Given the description of an element on the screen output the (x, y) to click on. 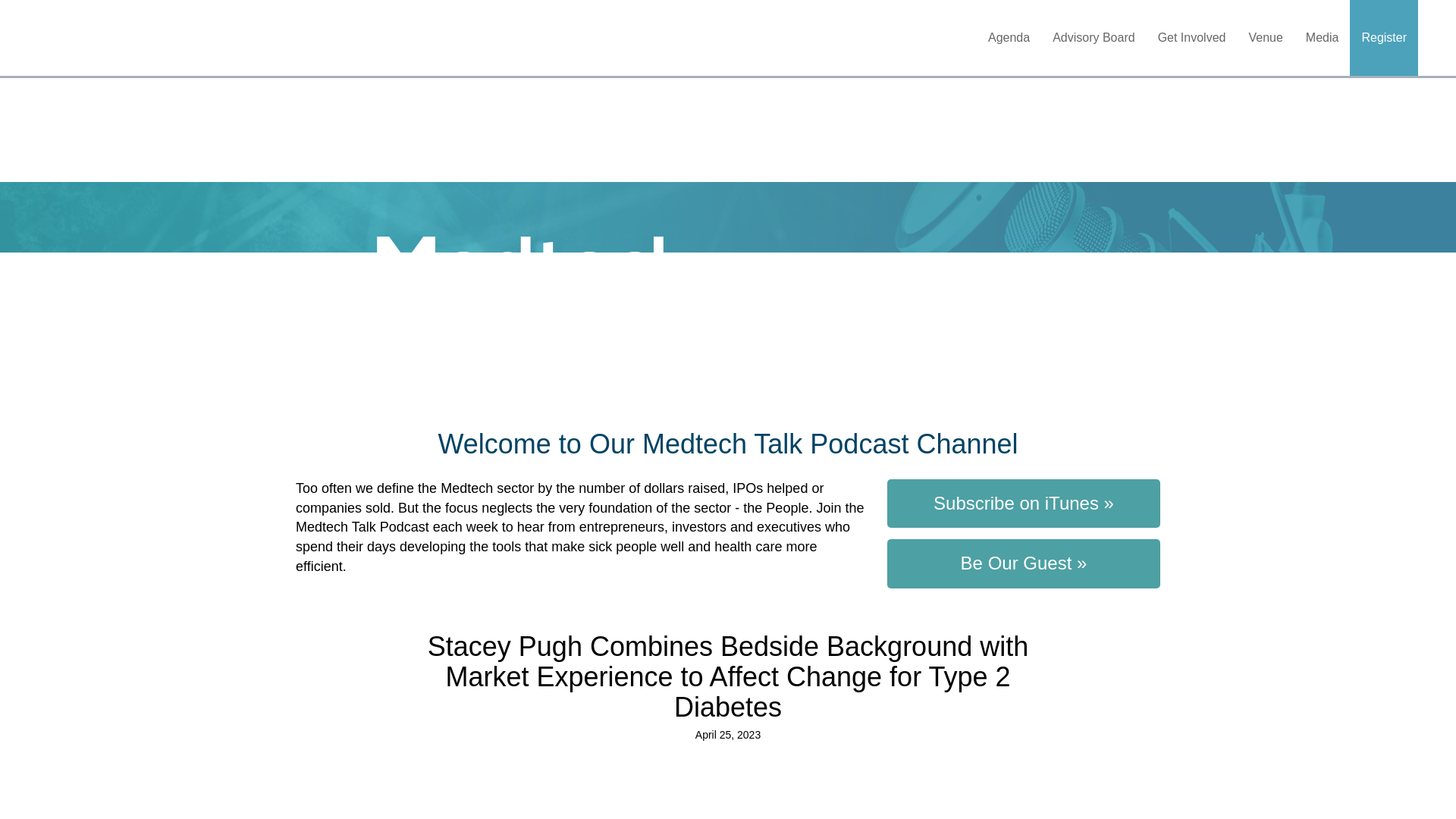
Register (1383, 38)
Get Involved (1192, 38)
Advisory Board (1094, 38)
